Given the description of an element on the screen output the (x, y) to click on. 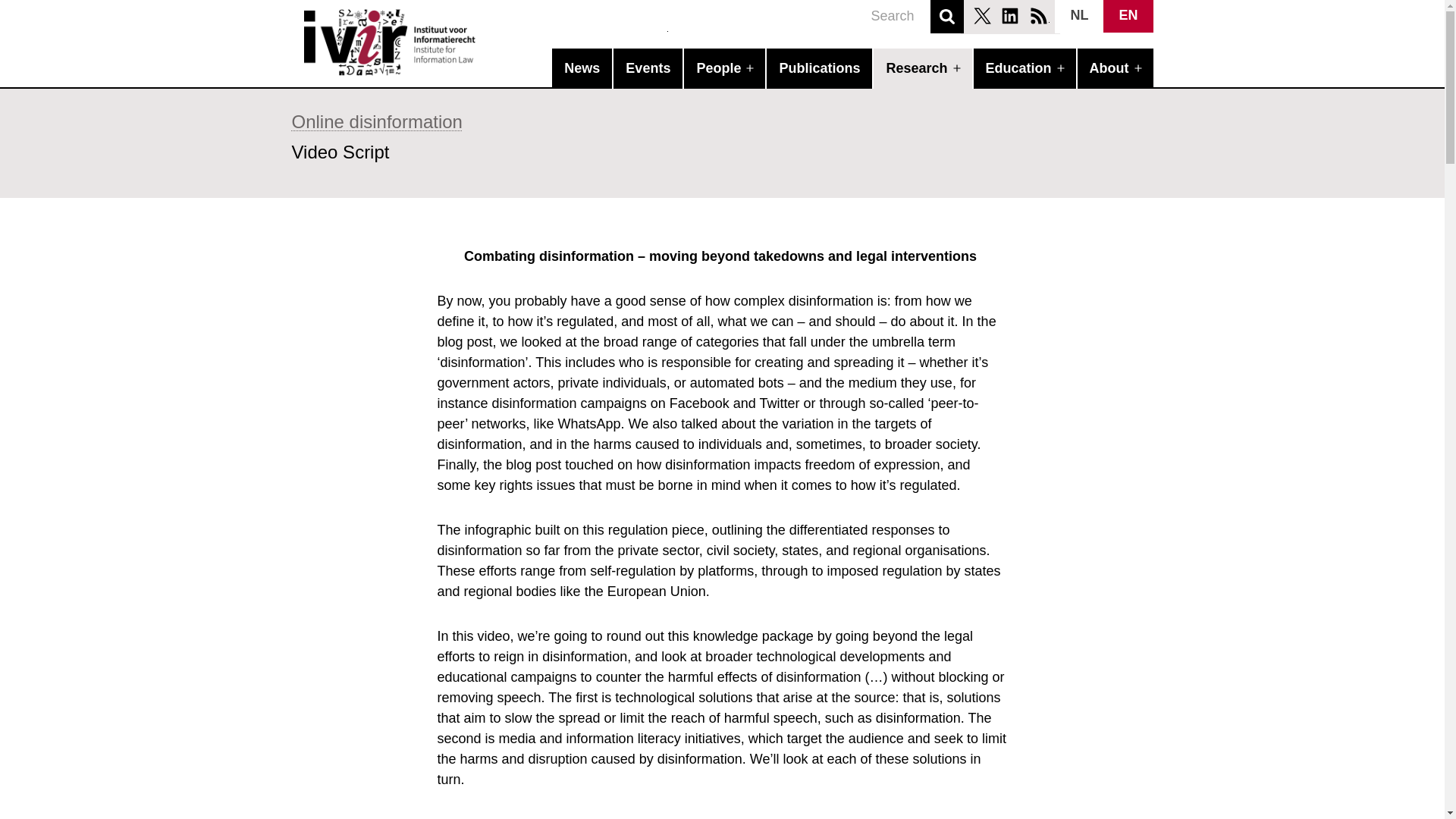
EN (1128, 16)
News RSS (1038, 15)
Events (647, 68)
Research (917, 68)
Publications (819, 68)
Twitter feed (981, 15)
NL (1078, 16)
About (1110, 68)
Online disinformation (376, 121)
Education (1020, 68)
